Given the description of an element on the screen output the (x, y) to click on. 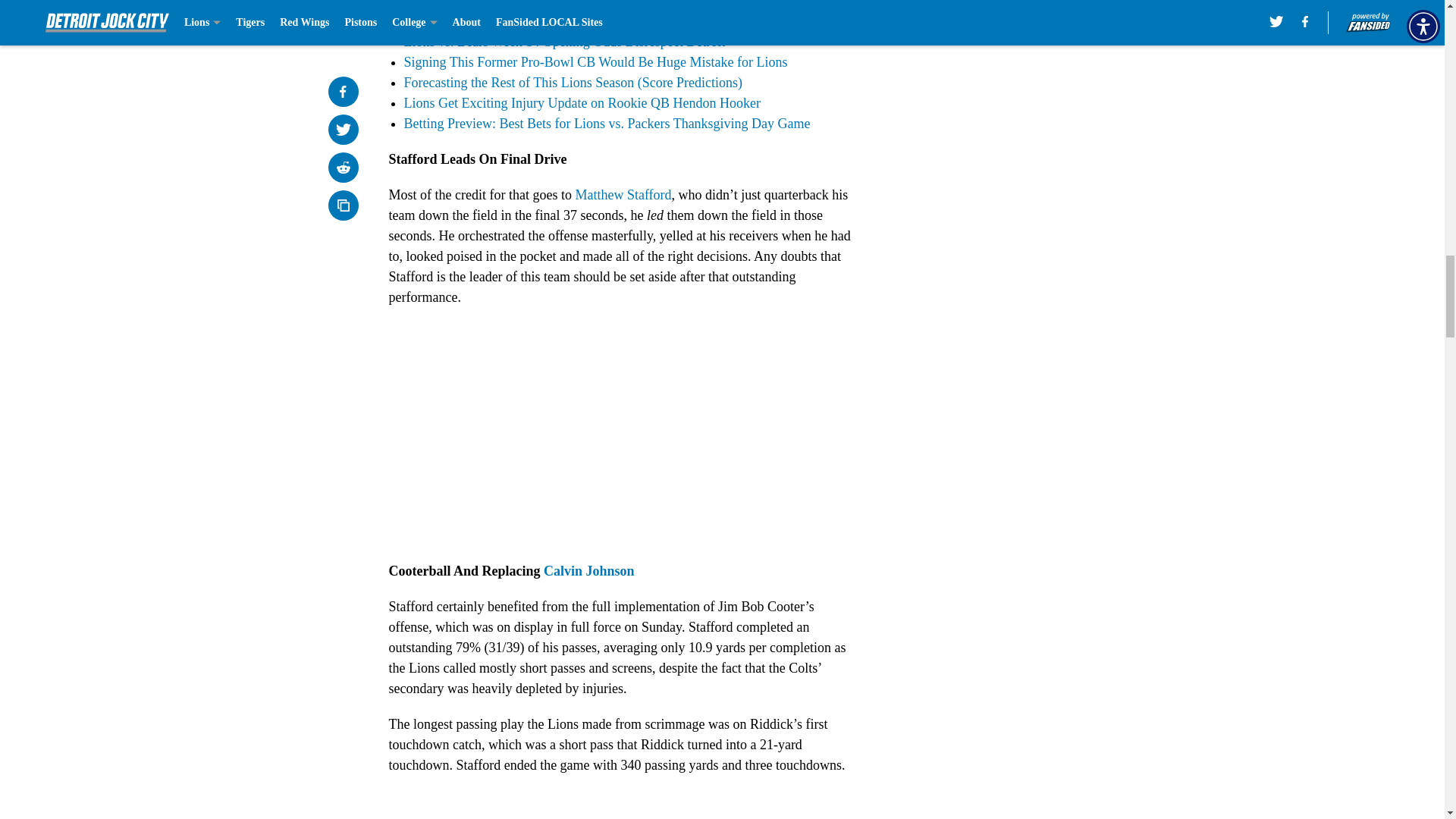
Lions vs. Bears Week 14 Opening Odds Disrespect Detroit (564, 41)
